Given the description of an element on the screen output the (x, y) to click on. 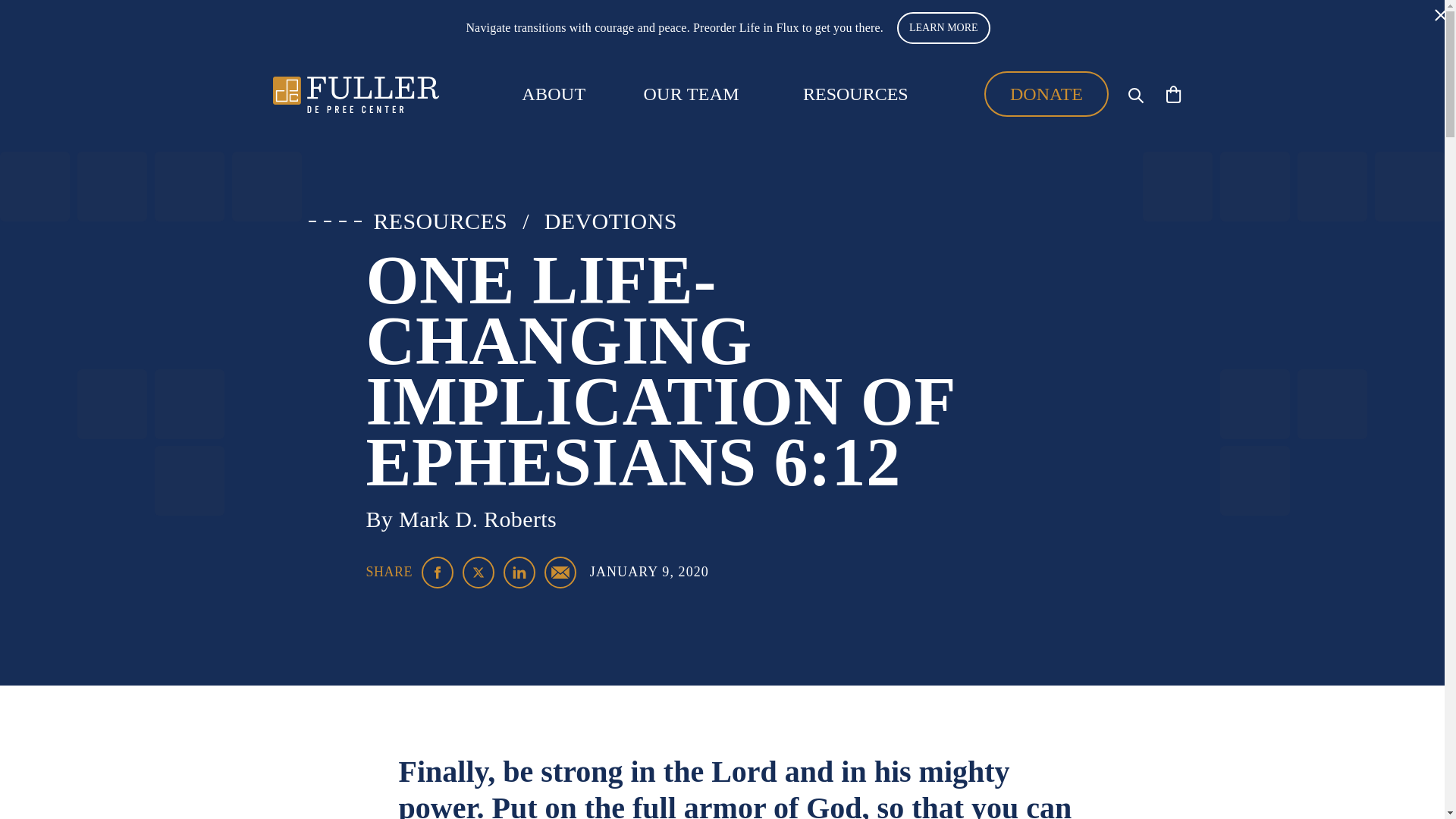
RESOURCES (855, 93)
RESOURCES (439, 221)
DONATE (1046, 94)
Mark D. Roberts (477, 518)
Return to Homepage (356, 94)
OUR TEAM (691, 94)
LEARN MORE (943, 28)
De Pree Center (356, 94)
DEVOTIONS (610, 221)
ABOUT (552, 94)
